Given the description of an element on the screen output the (x, y) to click on. 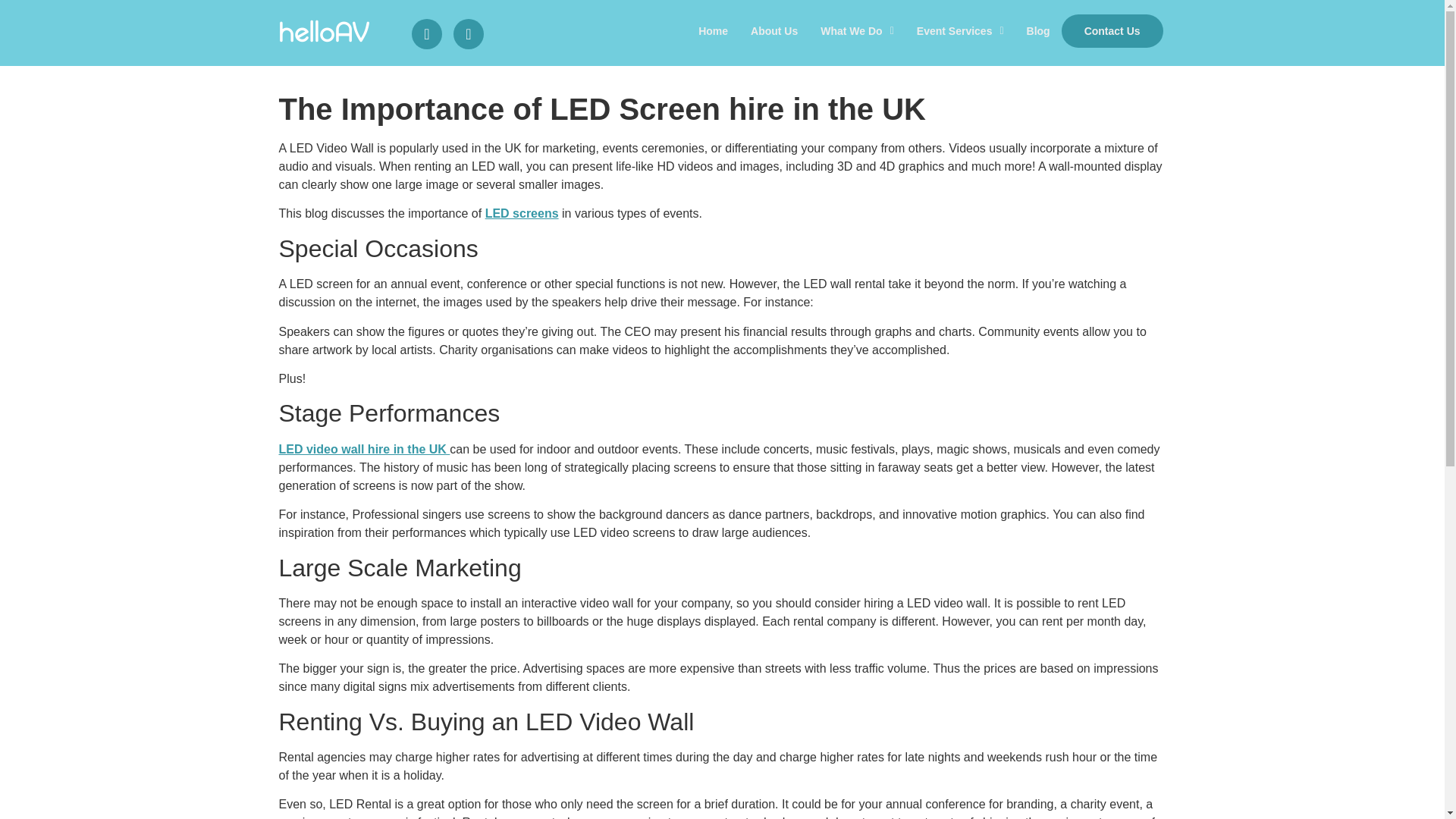
LED video wall hire in the UK (364, 449)
Contact Us (1112, 30)
helloav-logo-white (324, 30)
Event Services (959, 30)
What We Do (857, 30)
Blog (1037, 30)
LED screens (521, 213)
About Us (774, 30)
Home (713, 30)
